Given the description of an element on the screen output the (x, y) to click on. 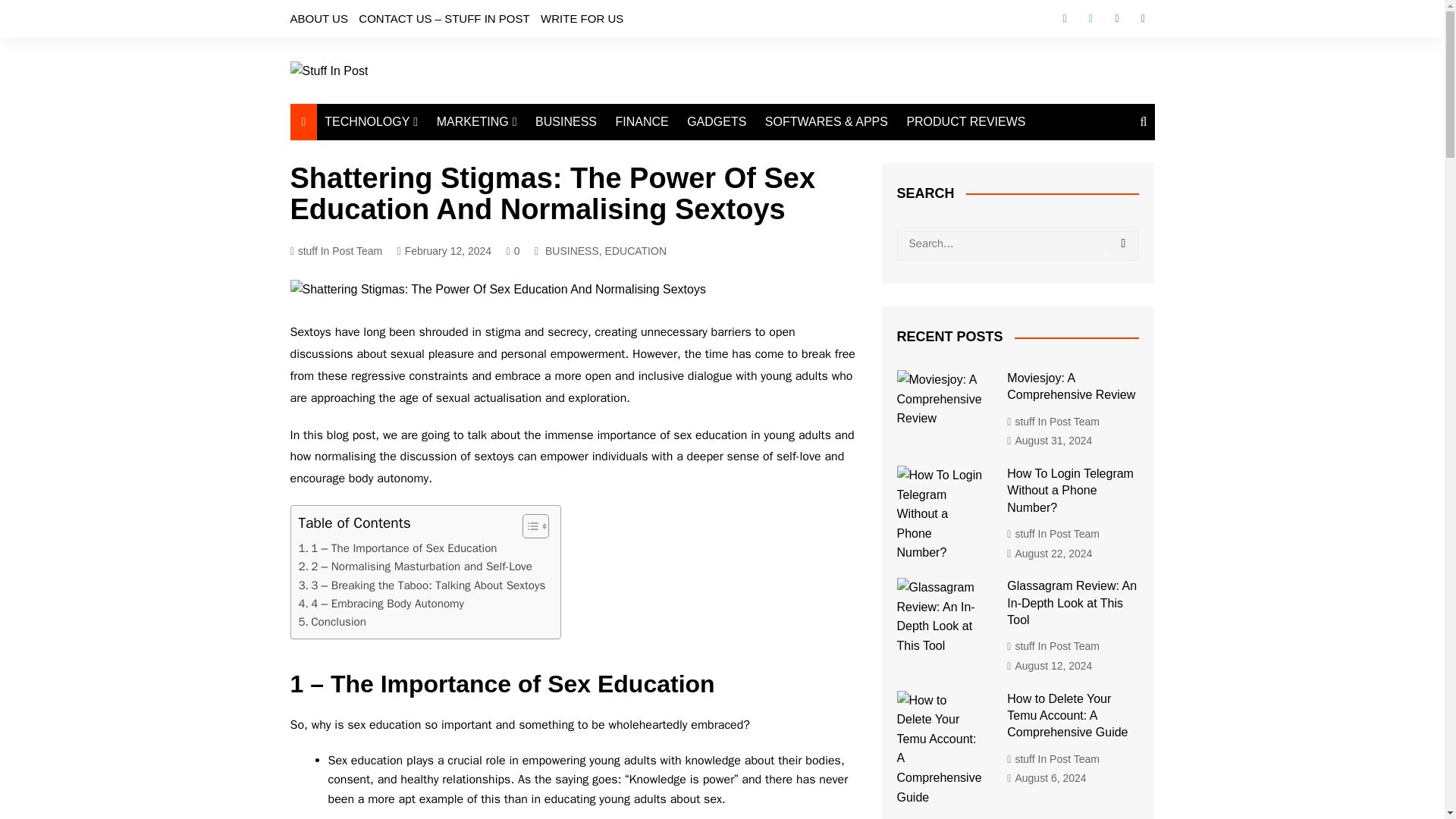
5G TECHNOLOGY (400, 240)
BUSINESS (565, 122)
BIG DATA (400, 265)
Linkedin (1142, 18)
CLOUD COMPUTING (400, 190)
INTERNET OF THINGS (400, 215)
PRODUCT REVIEWS (965, 122)
ABOUT US (318, 18)
Facebook (1063, 18)
EDUCATION (635, 250)
